Given the description of an element on the screen output the (x, y) to click on. 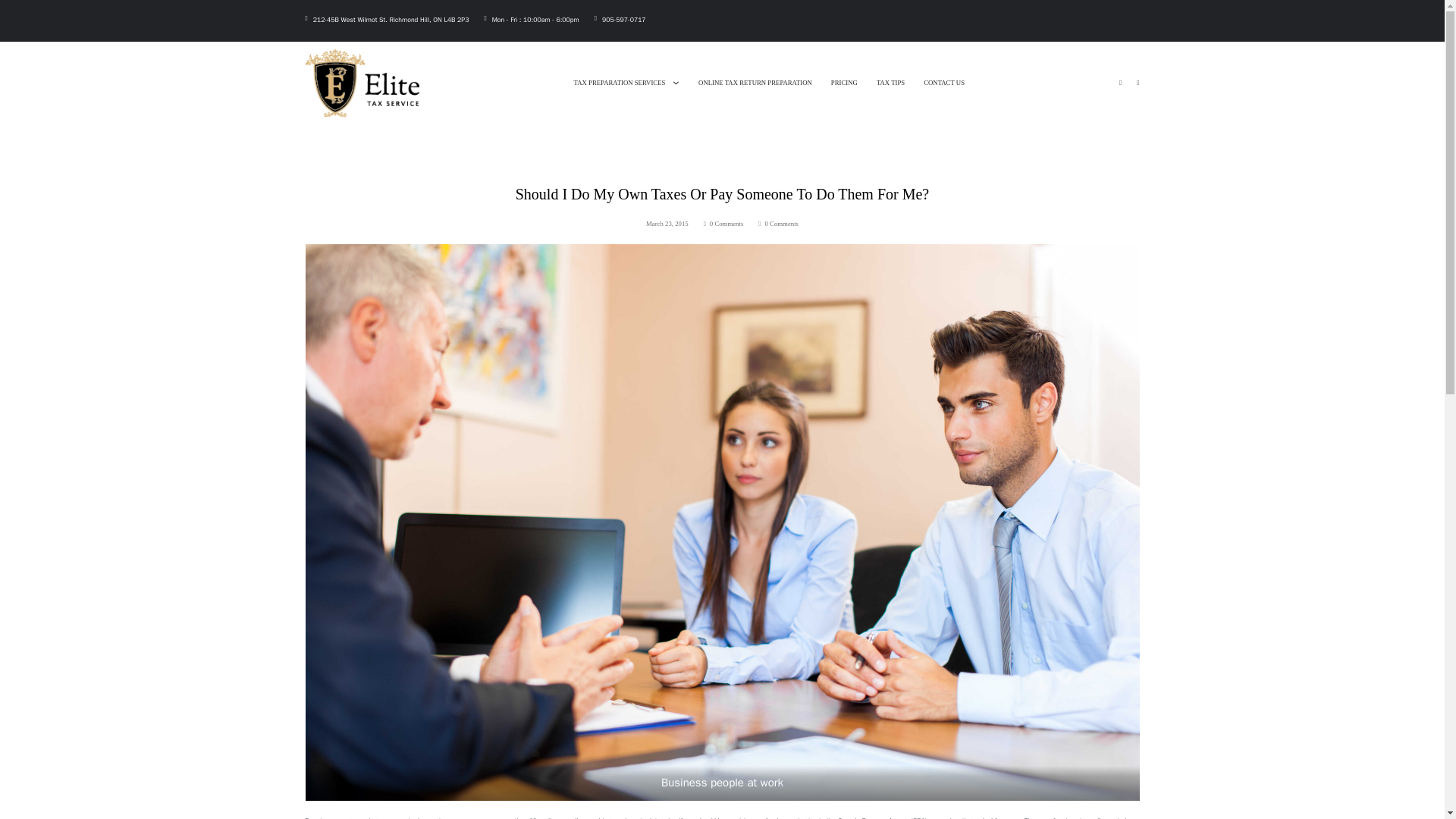
TAX PREPARATION SERVICES (619, 82)
CONTACT US (943, 82)
ONLINE TAX RETURN PREPARATION (755, 82)
PRICING (844, 82)
905-597-0717 (624, 20)
TAX TIPS (890, 82)
